Given the description of an element on the screen output the (x, y) to click on. 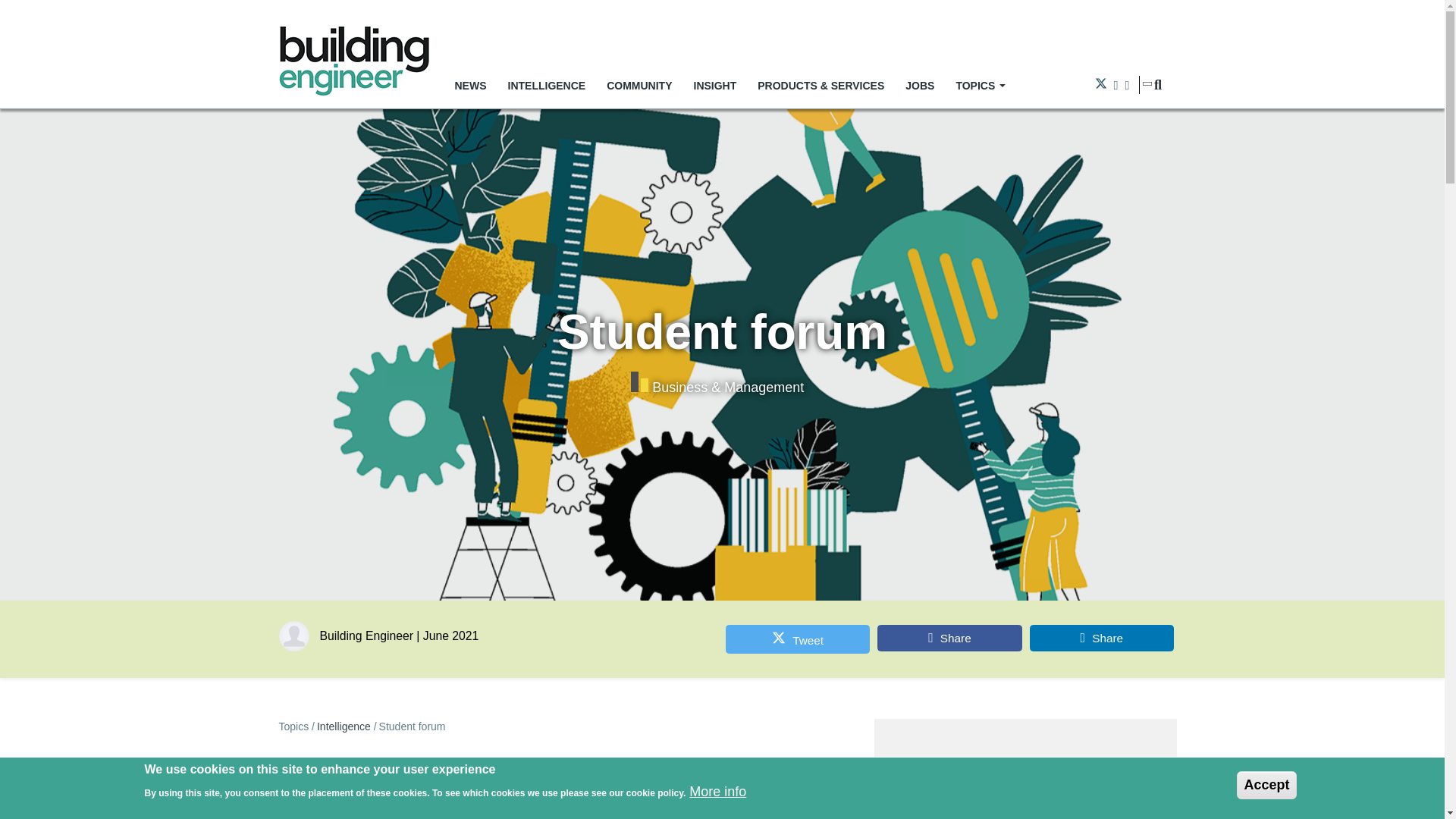
Share (1101, 637)
Tweet (797, 638)
NEWS (470, 85)
Share (949, 637)
View user profile. (366, 635)
COMMUNITY (638, 85)
INSIGHT (714, 85)
Share on Facebook (949, 637)
Share on LinkedIn (1101, 637)
INTELLIGENCE (546, 85)
Share on Twitter (797, 638)
JOBS (919, 85)
Intelligence (344, 726)
Building Engineer (366, 635)
